Given the description of an element on the screen output the (x, y) to click on. 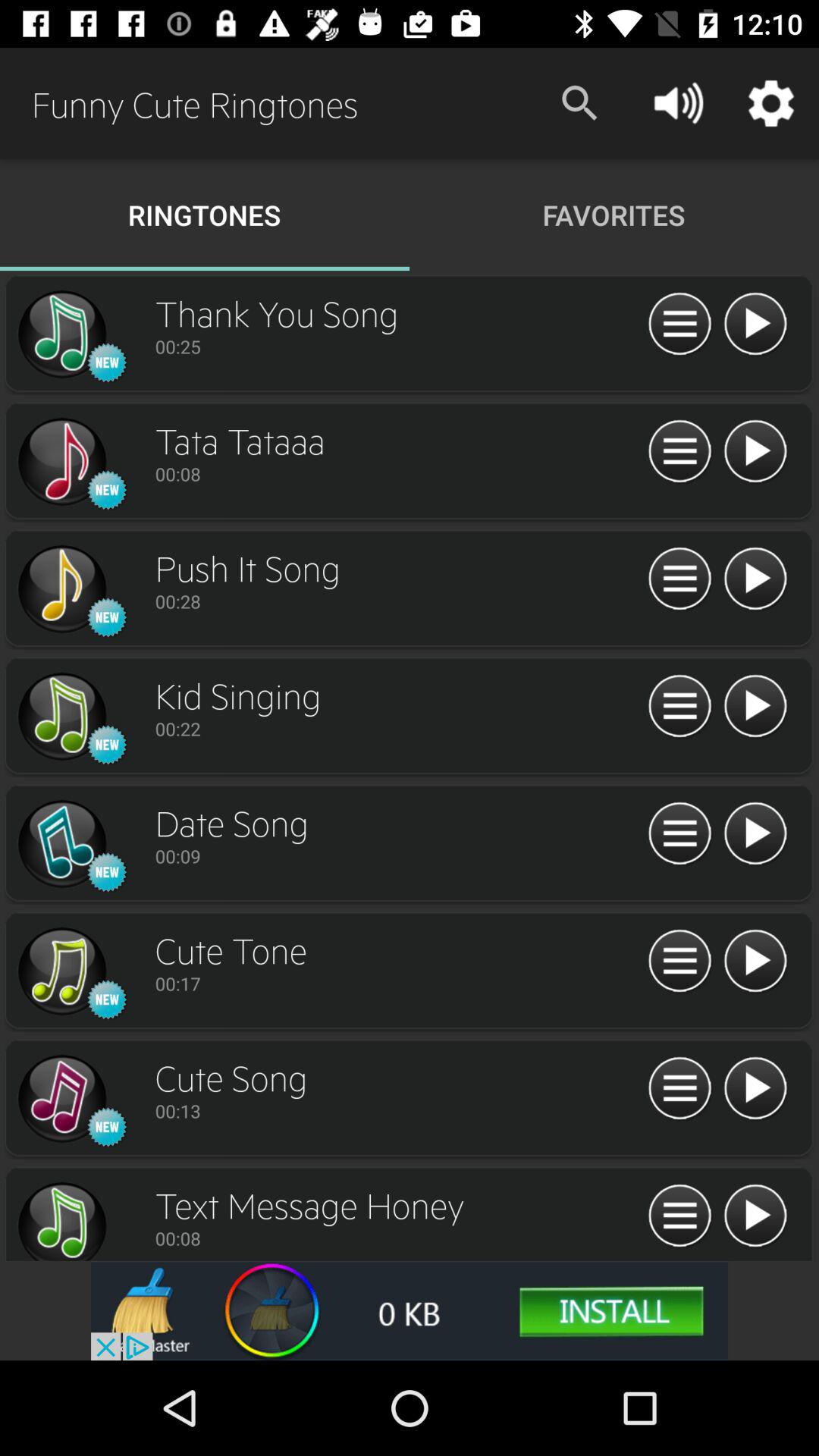
click for information (679, 706)
